Given the description of an element on the screen output the (x, y) to click on. 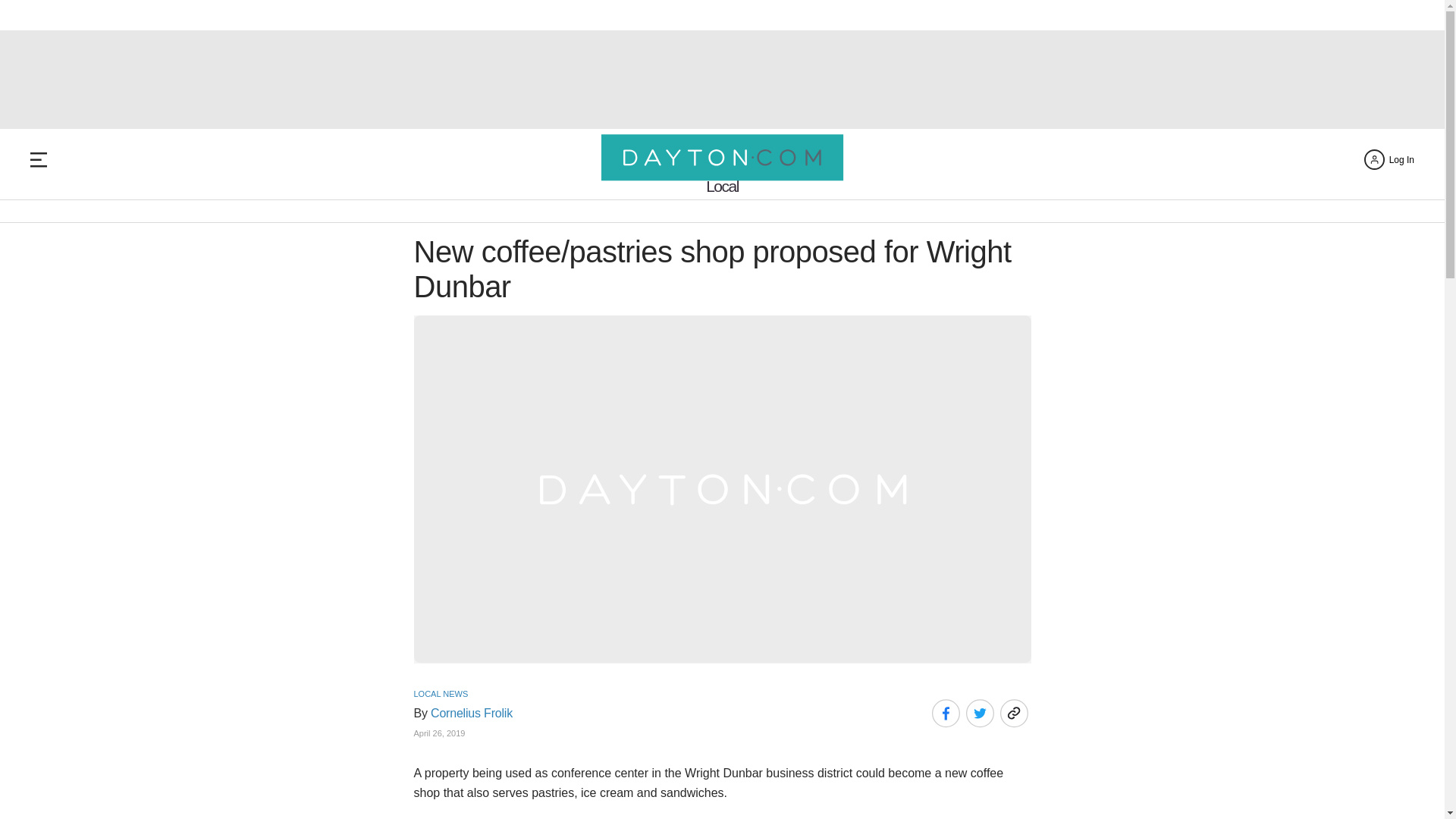
Local (722, 186)
Cornelius Frolik (471, 713)
LOCAL NEWS (440, 693)
